Given the description of an element on the screen output the (x, y) to click on. 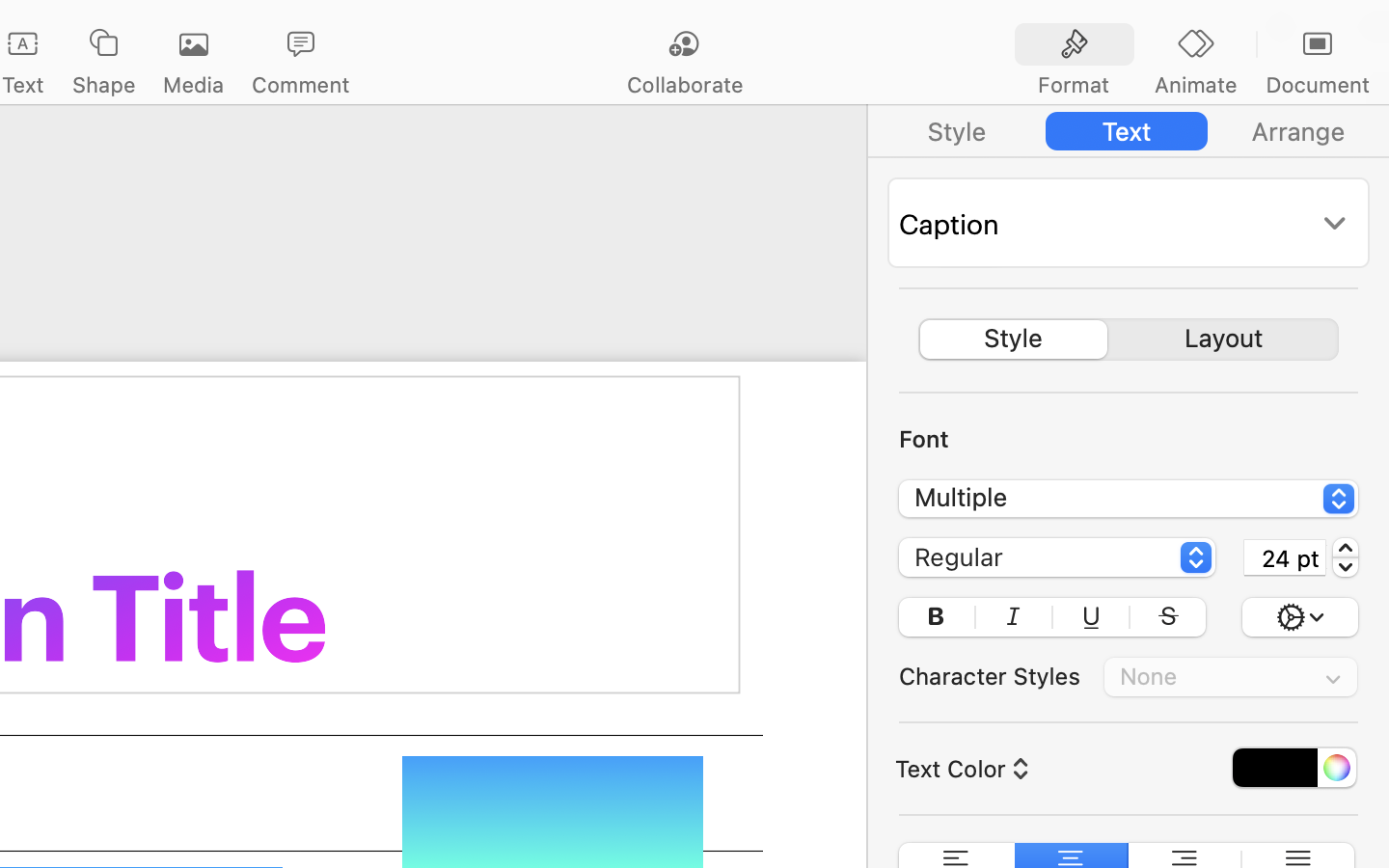
24 pt Element type: AXTextField (1284, 557)
Multiple Element type: AXPopUpButton (1129, 501)
Text Color Element type: AXPopUpButton (959, 768)
